Given the description of an element on the screen output the (x, y) to click on. 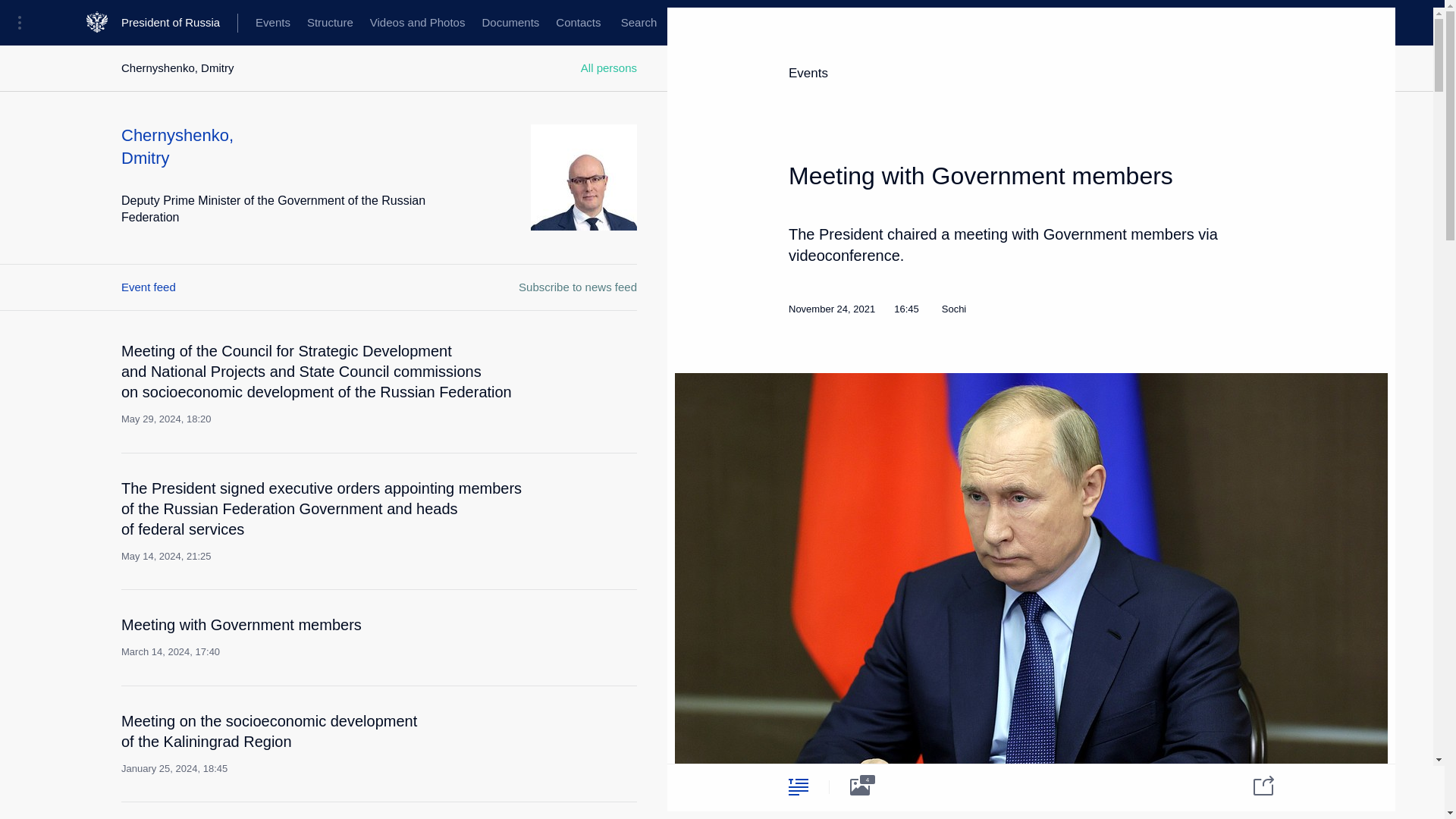
Text (798, 786)
Photo (859, 786)
Share (1253, 784)
Videos and Photos (417, 22)
Search (638, 22)
Global website search (638, 22)
Documents (510, 22)
Portal Menu (24, 22)
Event feed (148, 287)
Contacts (577, 22)
All persons (321, 637)
